Given the description of an element on the screen output the (x, y) to click on. 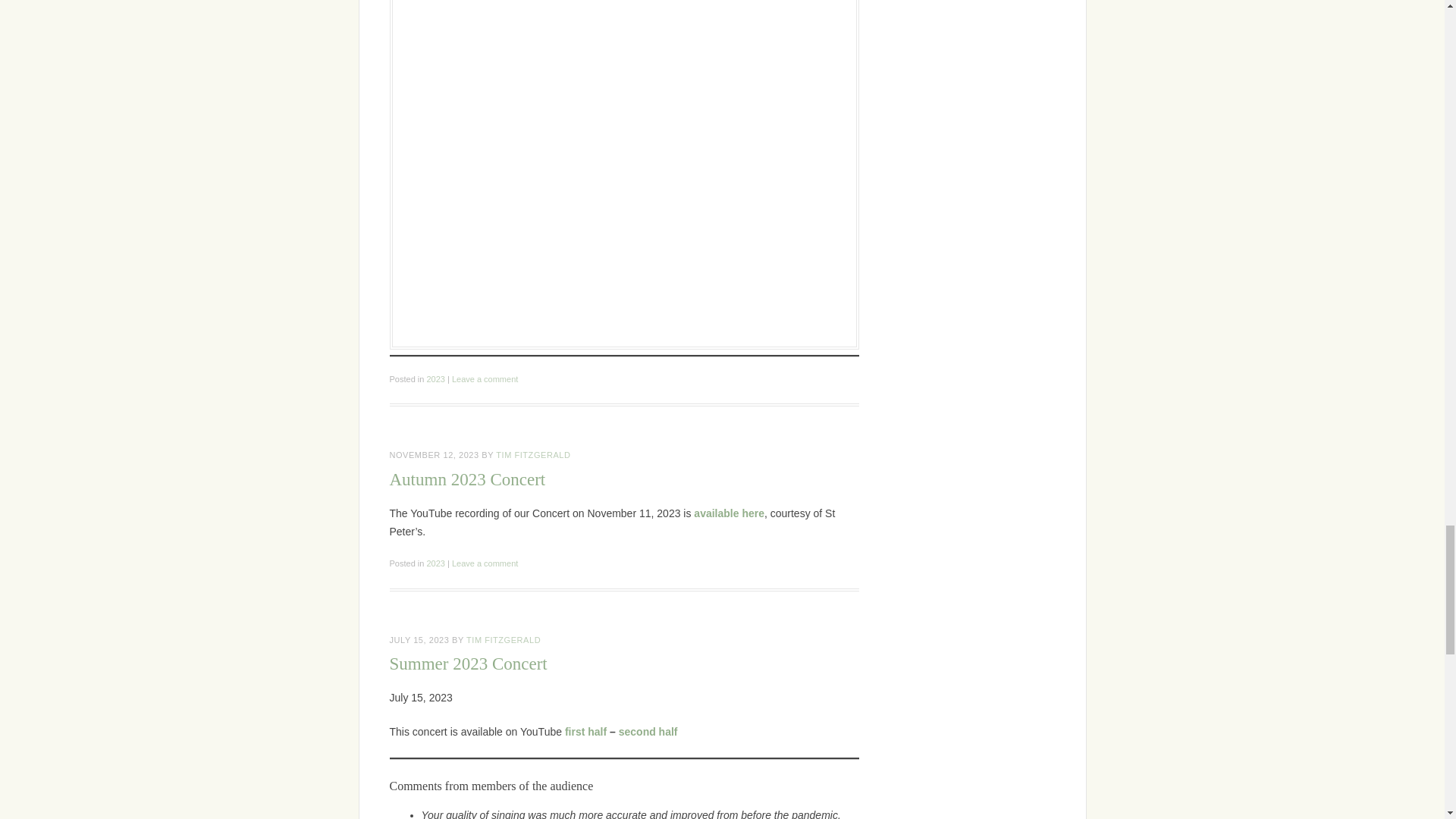
NOVEMBER 12, 2023 (434, 454)
Leave a comment (484, 379)
16:35 (434, 454)
2023 (435, 379)
TIM FITZGERALD (533, 454)
19:24 (419, 639)
View all posts by Tim FitzGerald (533, 454)
Autumn 2023 Concert (468, 479)
View all posts by Tim FitzGerald (502, 639)
available here (729, 512)
